Given the description of an element on the screen output the (x, y) to click on. 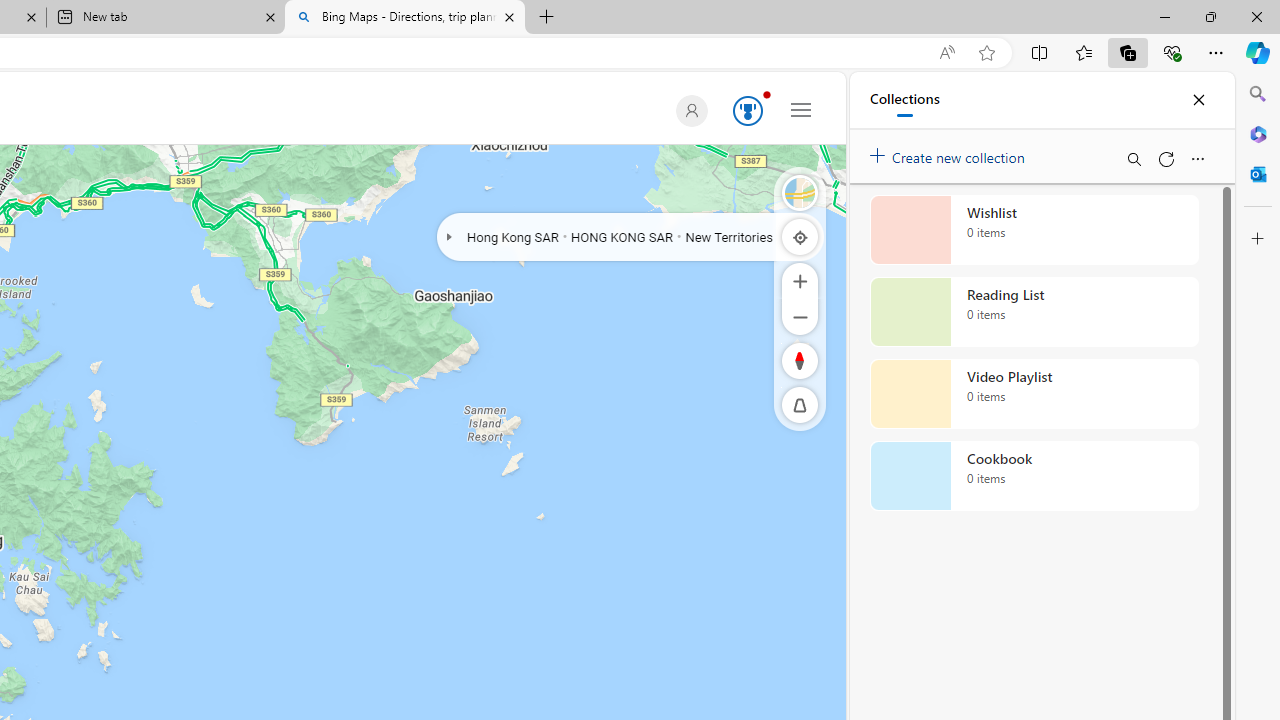
Satellite (799, 192)
AutomationID: serp_medal_svg (748, 110)
Create new collection (950, 153)
Wishlist collection, 0 items (1034, 229)
Cookbook collection, 0 items (1034, 475)
Locate me (799, 236)
Zoom Out (799, 316)
Streetside (799, 192)
